Given the description of an element on the screen output the (x, y) to click on. 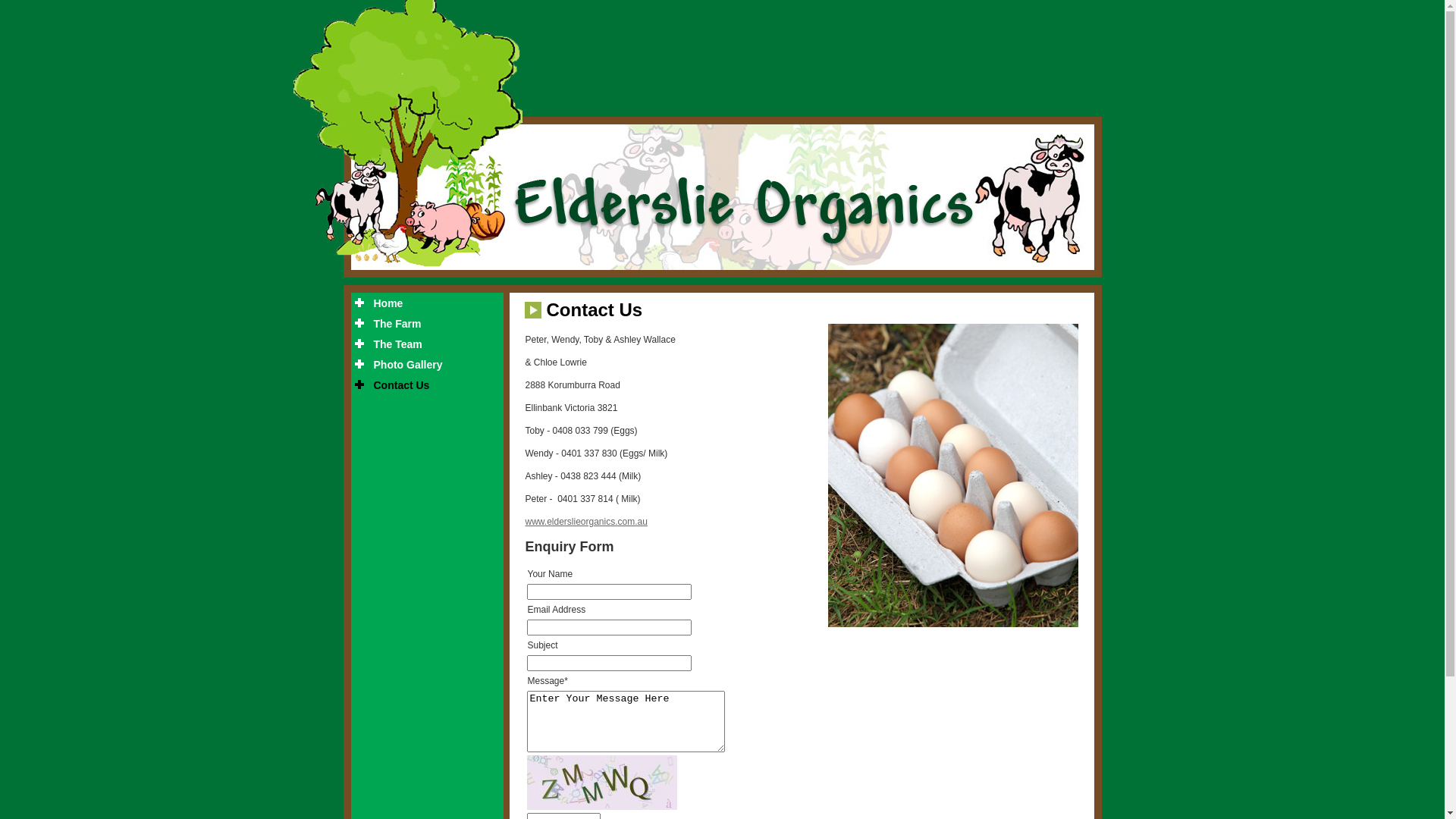
www.elderslieorganics.com.au Element type: text (585, 521)
Contact Us Element type: text (426, 384)
Photo Gallery Element type: text (426, 364)
The Team Element type: text (426, 343)
Home Element type: text (426, 302)
The Farm Element type: text (426, 323)
